Given the description of an element on the screen output the (x, y) to click on. 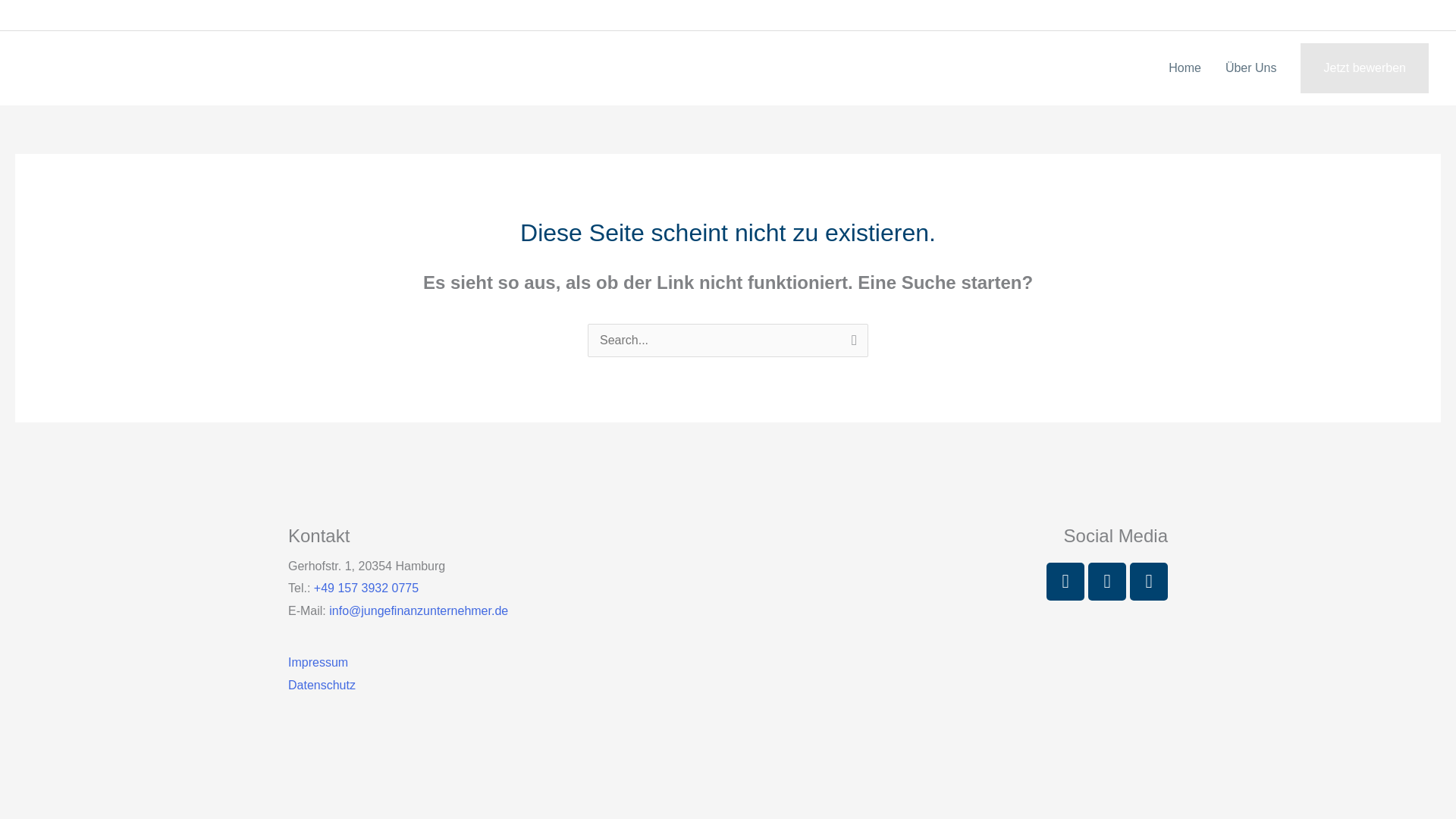
Xing (1065, 581)
Tel. Kontakt (117, 15)
Impressum (317, 662)
Envelope (1148, 581)
Instagram (1106, 581)
Home (1184, 68)
Jetzt bewerben (1364, 68)
Gerhofstr. 1, 20354 Hamburg (286, 14)
Datenschutz (321, 684)
